Given the description of an element on the screen output the (x, y) to click on. 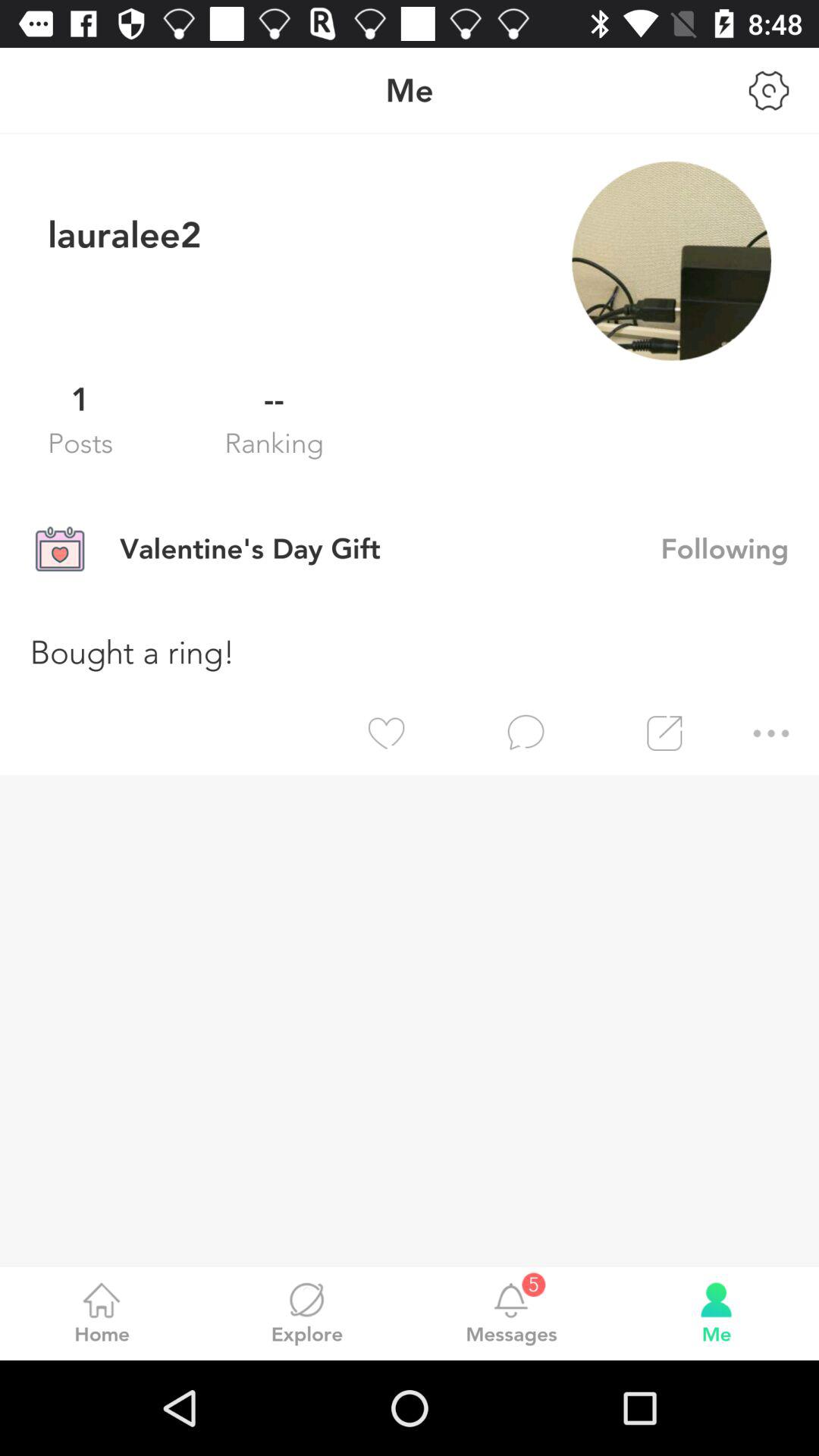
tap the icon next to valentine s day (739, 548)
